Given the description of an element on the screen output the (x, y) to click on. 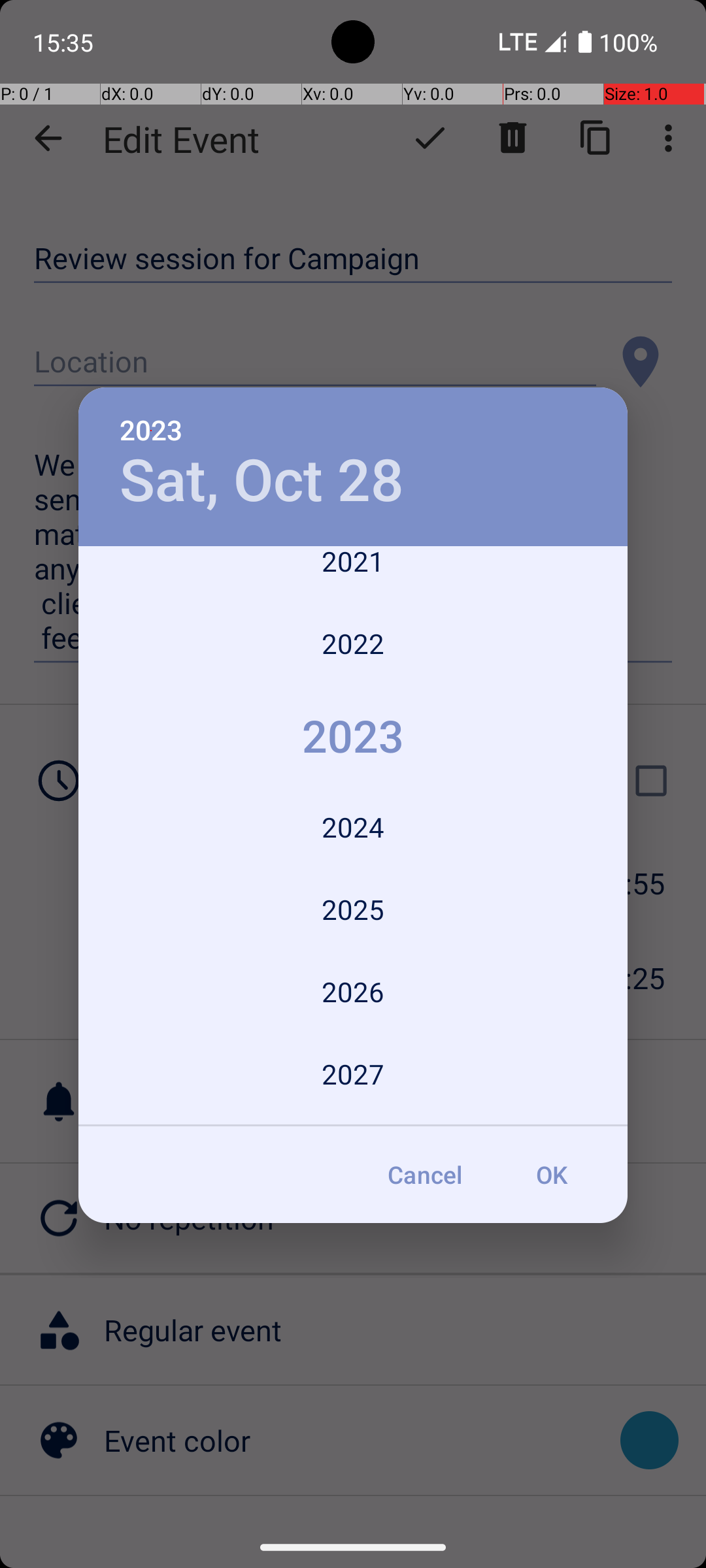
Sat, Oct 28 Element type: android.widget.TextView (261, 480)
2021 Element type: android.widget.TextView (352, 574)
2026 Element type: android.widget.TextView (352, 991)
2027 Element type: android.widget.TextView (352, 1073)
2028 Element type: android.widget.TextView (352, 1120)
